Given the description of an element on the screen output the (x, y) to click on. 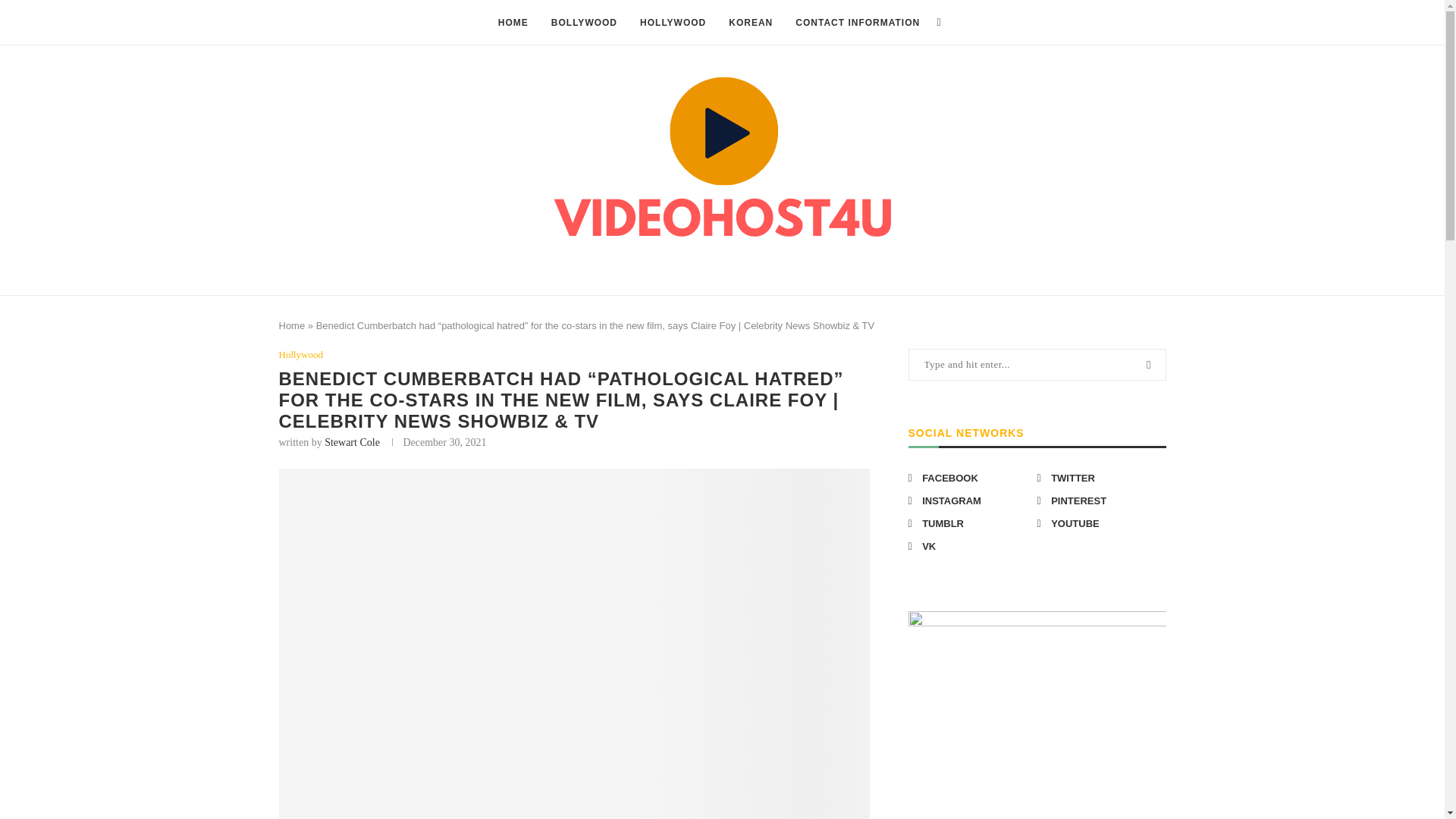
Stewart Cole (352, 441)
Home (292, 325)
KOREAN (751, 22)
HOLLYWOOD (673, 22)
CONTACT INFORMATION (857, 22)
BOLLYWOOD (584, 22)
Hollywood (301, 354)
